Given the description of an element on the screen output the (x, y) to click on. 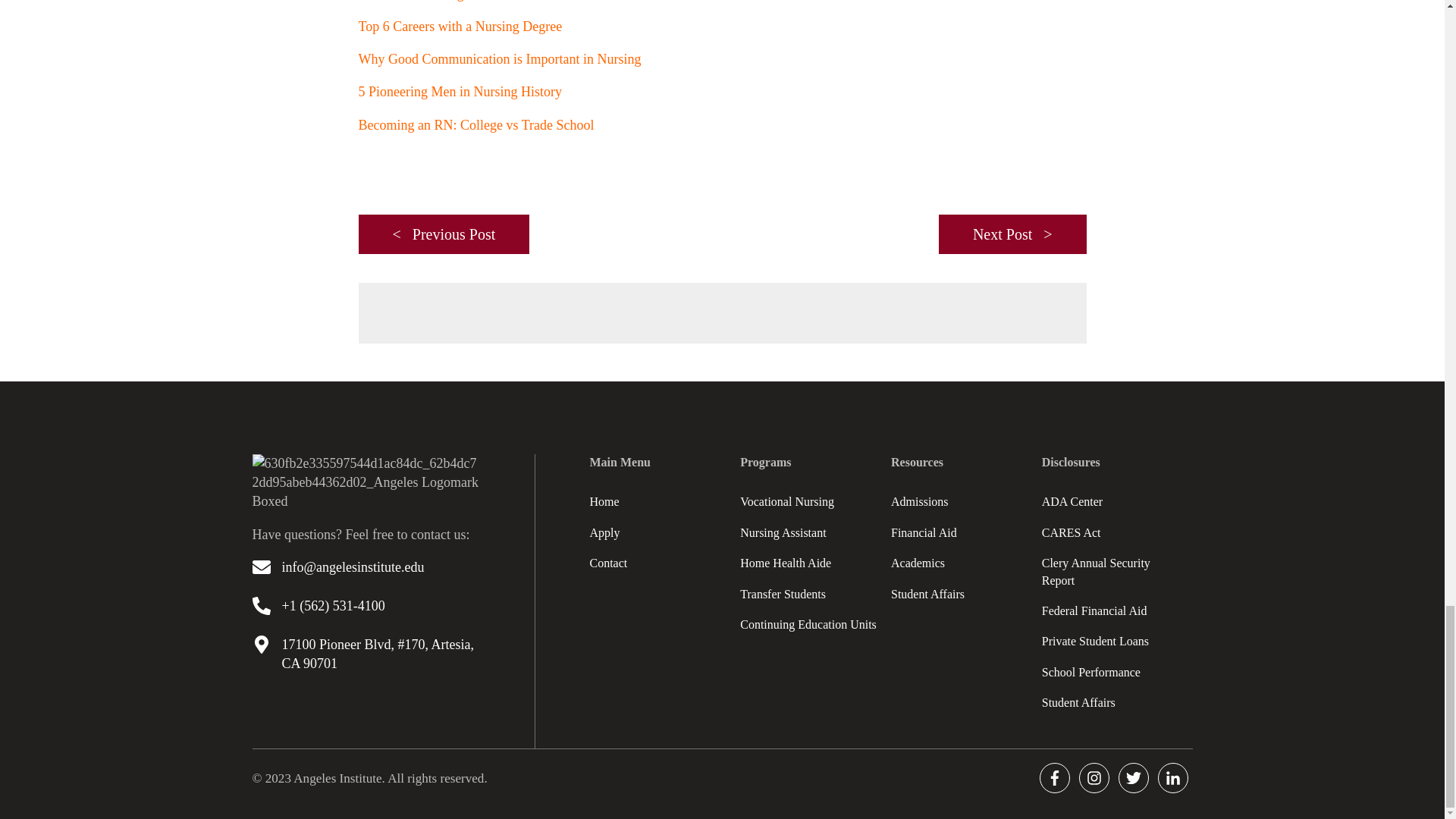
Follow us on Facebook (1093, 777)
Follow us on Facebook (1053, 777)
Follow us on Facebook (1171, 777)
Follow us on Facebook (1132, 777)
